Given the description of an element on the screen output the (x, y) to click on. 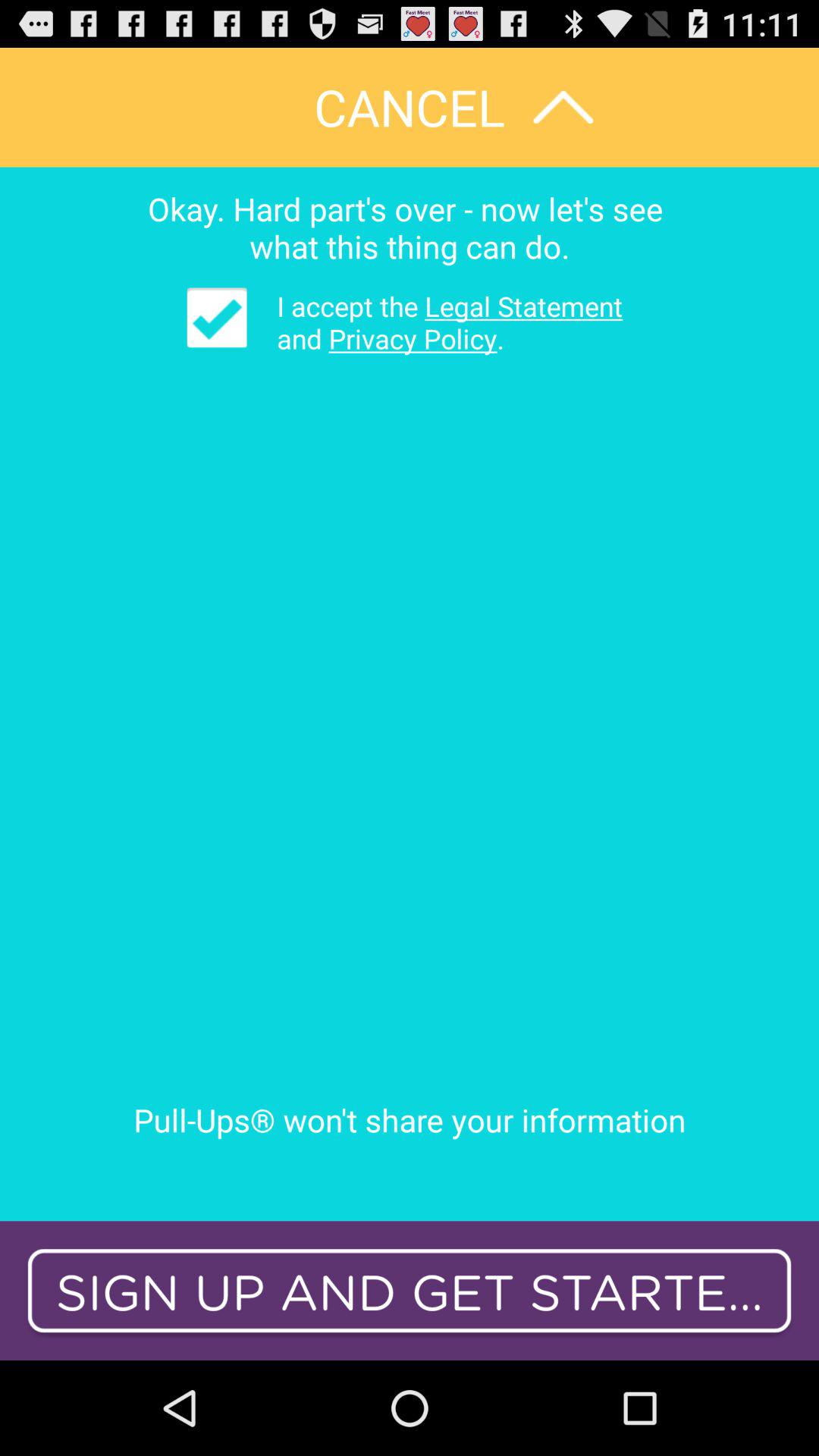
tap icon above pull ups won icon (216, 317)
